Given the description of an element on the screen output the (x, y) to click on. 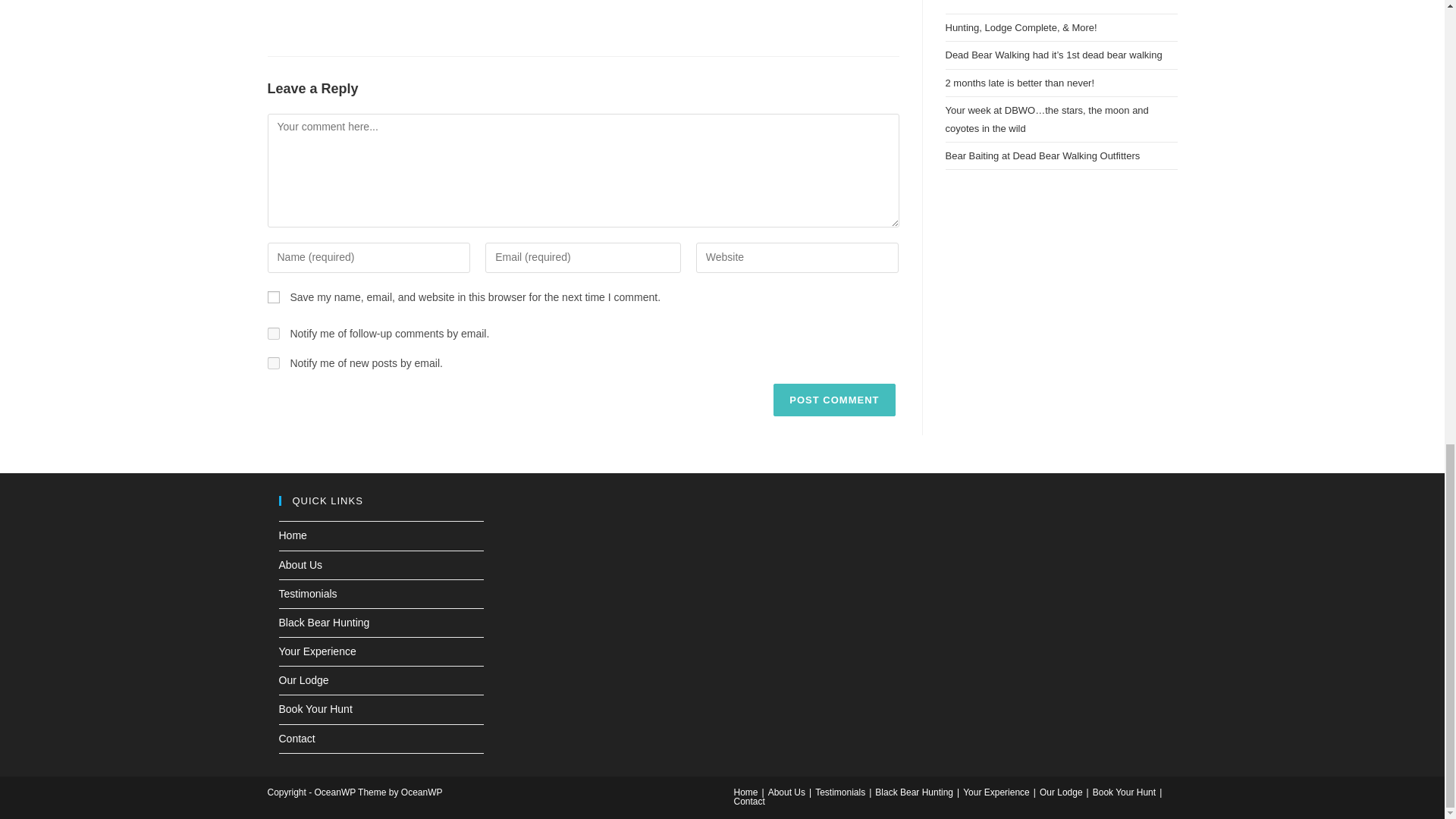
Post Comment (834, 400)
subscribe (272, 333)
subscribe (272, 363)
yes (272, 297)
